Given the description of an element on the screen output the (x, y) to click on. 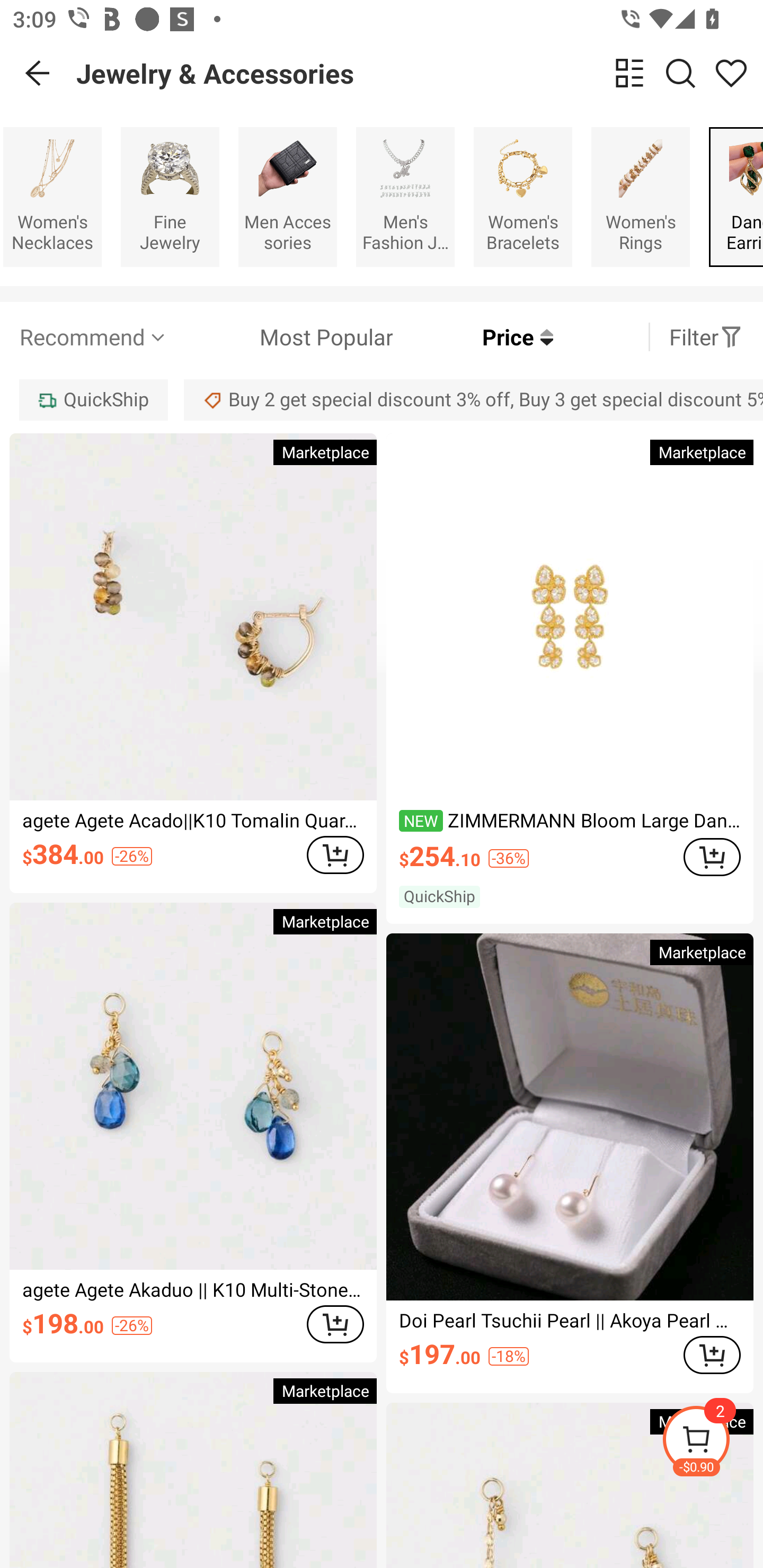
Jewelry & Accessories change view Search Share (419, 72)
change view (629, 72)
Search (679, 72)
Share (730, 72)
Women's Necklaces (52, 196)
Fine Jewelry (169, 196)
Men Accessories (287, 196)
Men's Fashion Jewelry (405, 196)
Women's Bracelets (522, 196)
Women's Rings (640, 196)
Recommend (93, 336)
Most Popular (280, 336)
Price (472, 336)
Filter (705, 336)
QuickShip (93, 399)
ADD TO CART (334, 854)
ADD TO CART (711, 856)
ADD TO CART (334, 1323)
ADD TO CART (711, 1354)
-$0.90 (712, 1441)
